Given the description of an element on the screen output the (x, y) to click on. 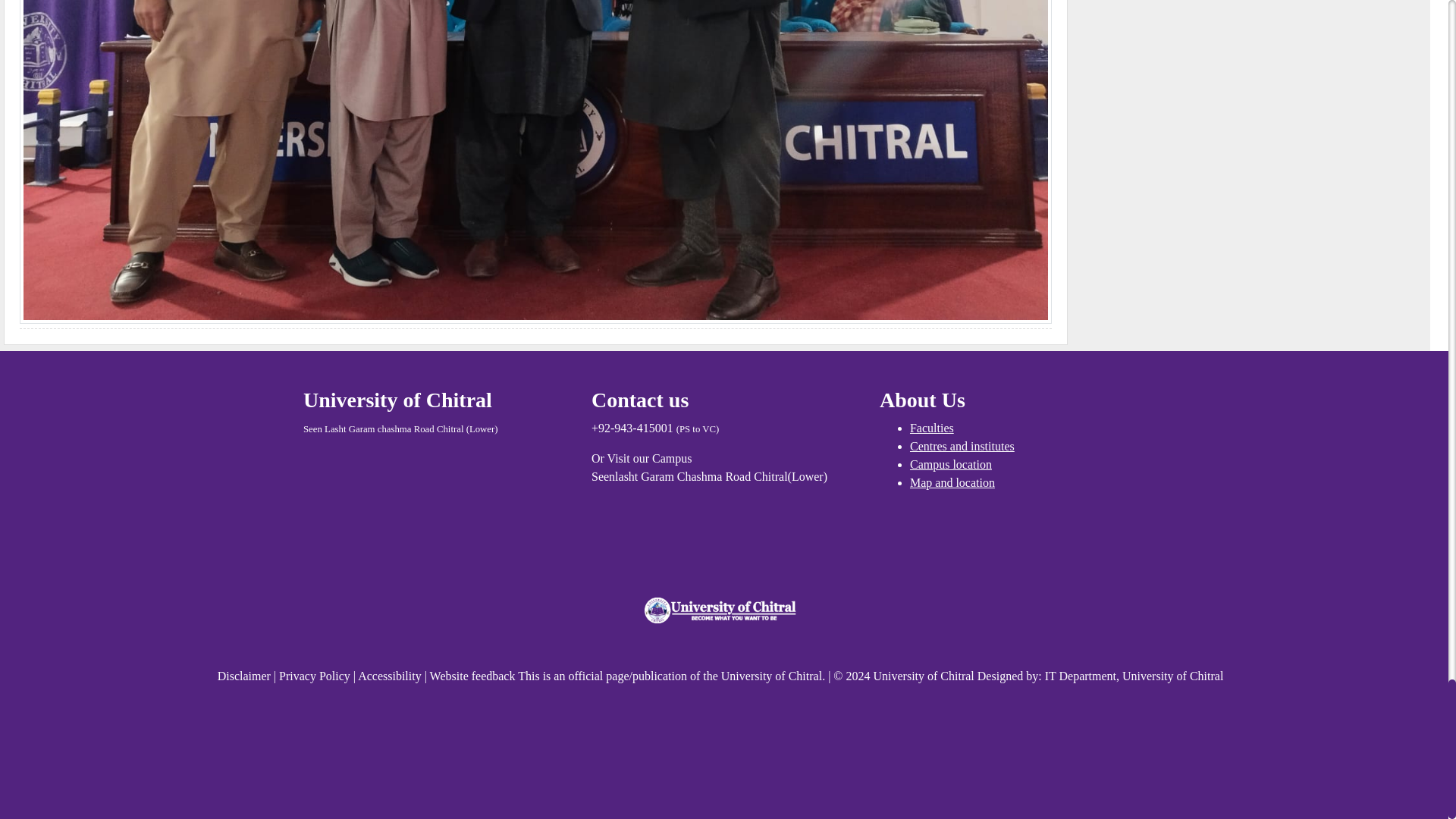
Follow UOCH on Twitter (720, 644)
